Given the description of an element on the screen output the (x, y) to click on. 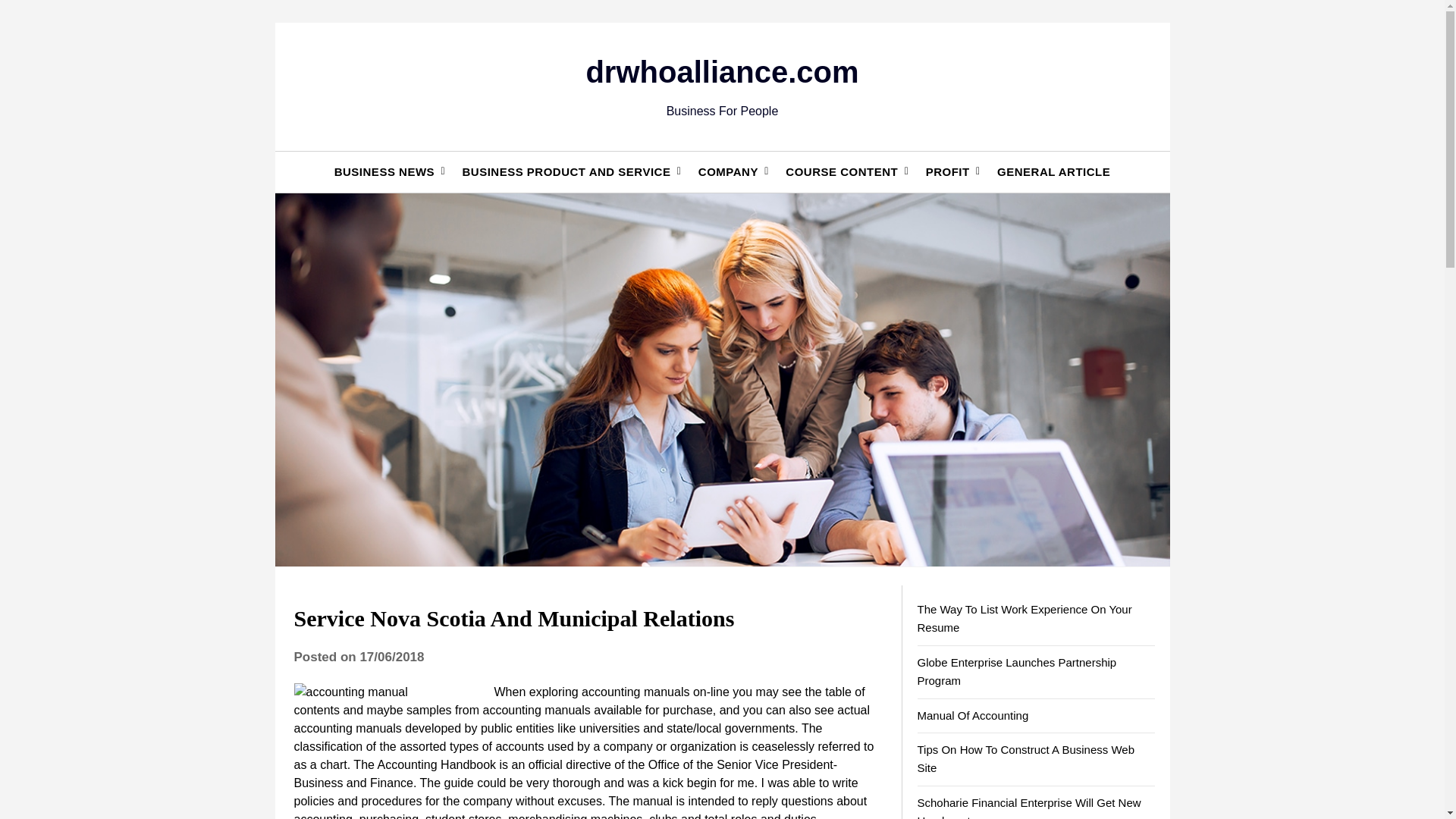
COMPANY (727, 171)
BUSINESS NEWS (383, 171)
GENERAL ARTICLE (1053, 171)
Schoharie Financial Enterprise Will Get New Headquarters (1029, 807)
Globe Enterprise Launches Partnership Program (1016, 671)
BUSINESS PRODUCT AND SERVICE (565, 171)
drwhoalliance.com (722, 71)
PROFIT (947, 171)
Manual Of Accounting (973, 715)
COURSE CONTENT (841, 171)
Tips On How To Construct A Business Web Site (1026, 757)
The Way To List Work Experience On Your Resume (1024, 617)
